Given the description of an element on the screen output the (x, y) to click on. 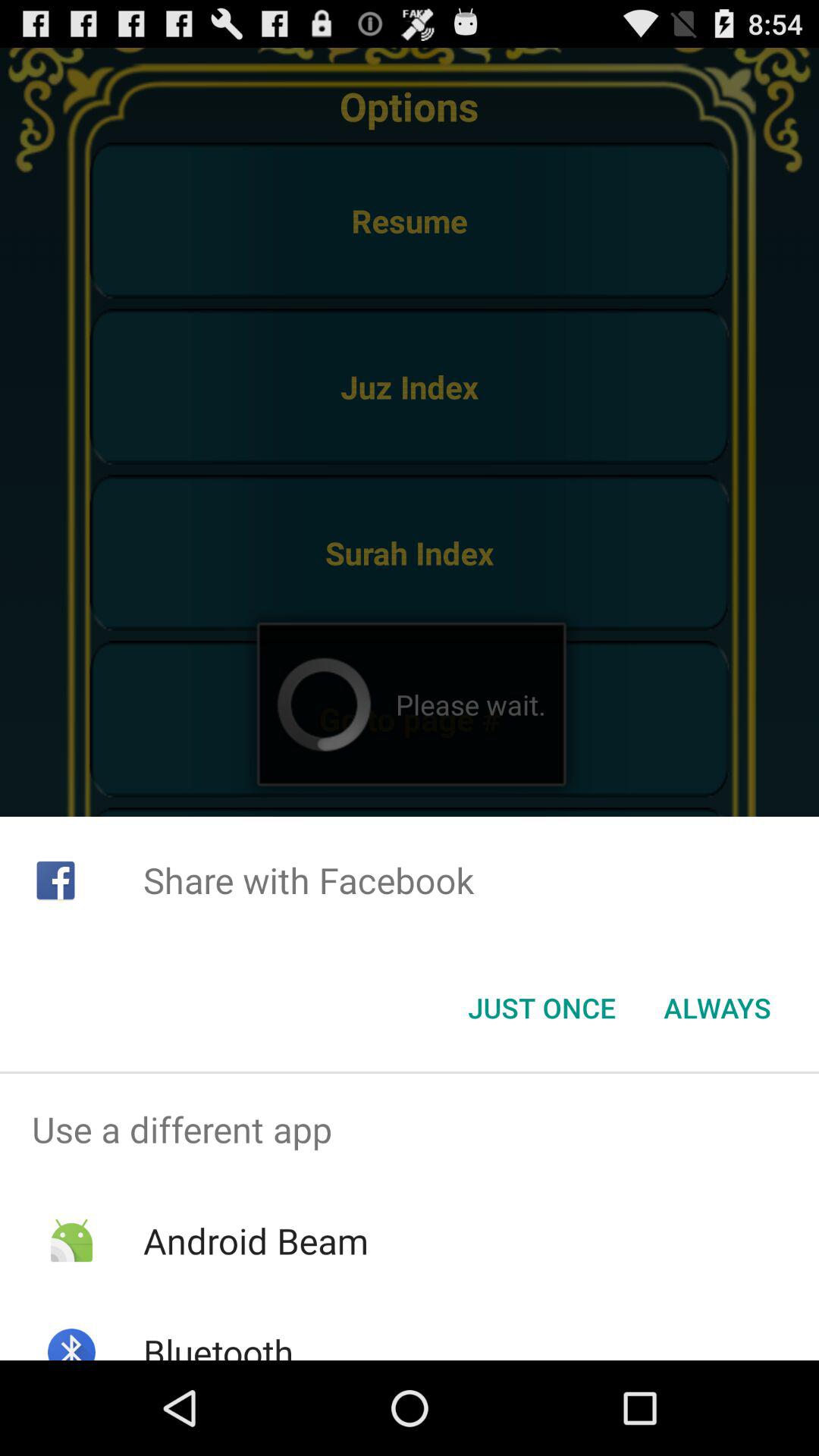
launch the just once button (541, 1007)
